Given the description of an element on the screen output the (x, y) to click on. 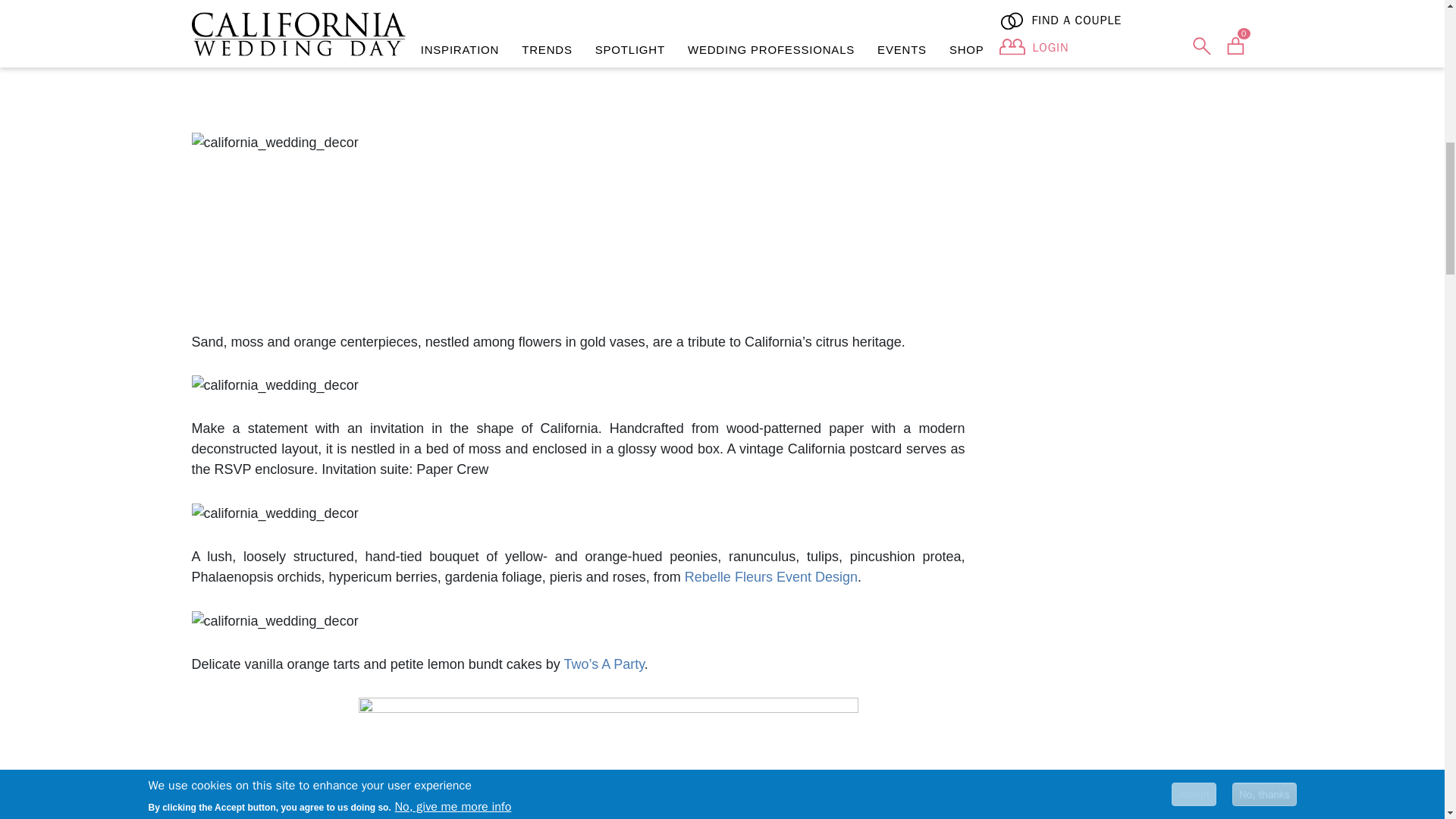
Rebelle Fleurs Event Design (770, 576)
